Given the description of an element on the screen output the (x, y) to click on. 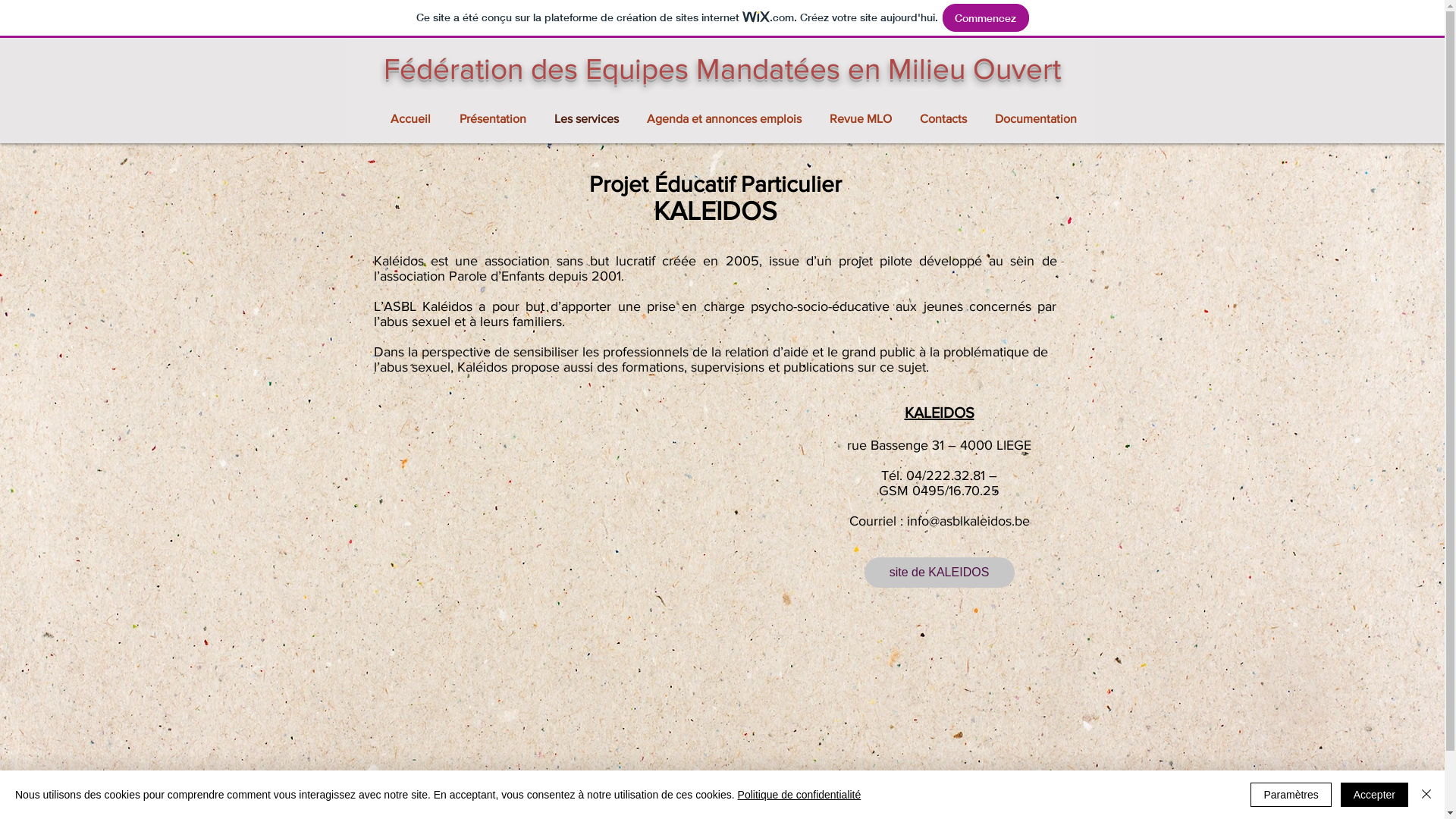
Accueil Element type: text (413, 118)
Agenda et annonces emplois Element type: text (726, 118)
Revue MLO Element type: text (862, 118)
info@asblkaleidos.be Element type: text (967, 520)
Les services Element type: text (588, 118)
Google Maps Element type: hover (590, 551)
Documentation Element type: text (1037, 118)
Contacts Element type: text (945, 118)
site de KALEIDOS Element type: text (939, 572)
Accepter Element type: text (1374, 794)
